Given the description of an element on the screen output the (x, y) to click on. 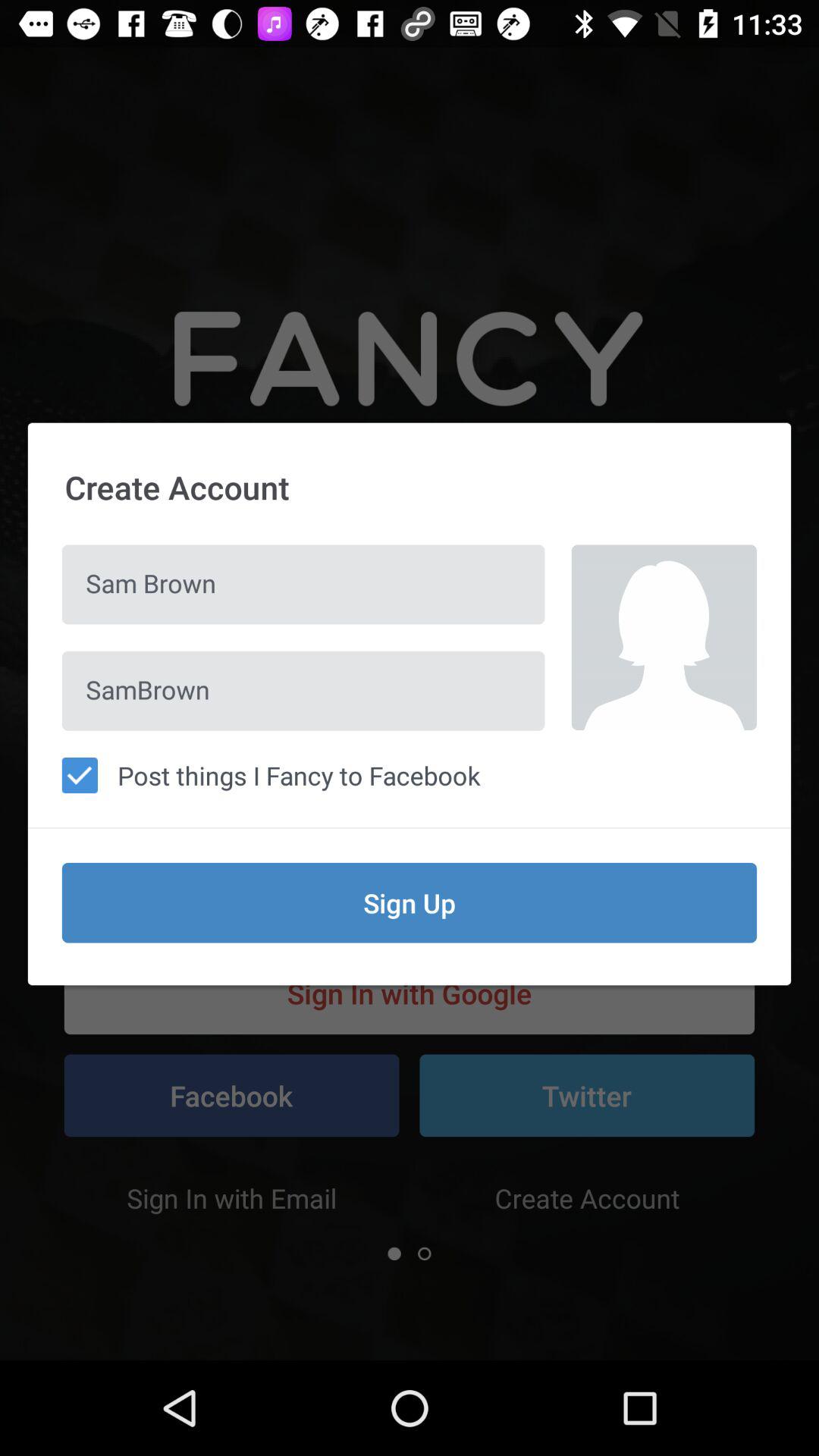
turn off the icon below create account icon (664, 637)
